Given the description of an element on the screen output the (x, y) to click on. 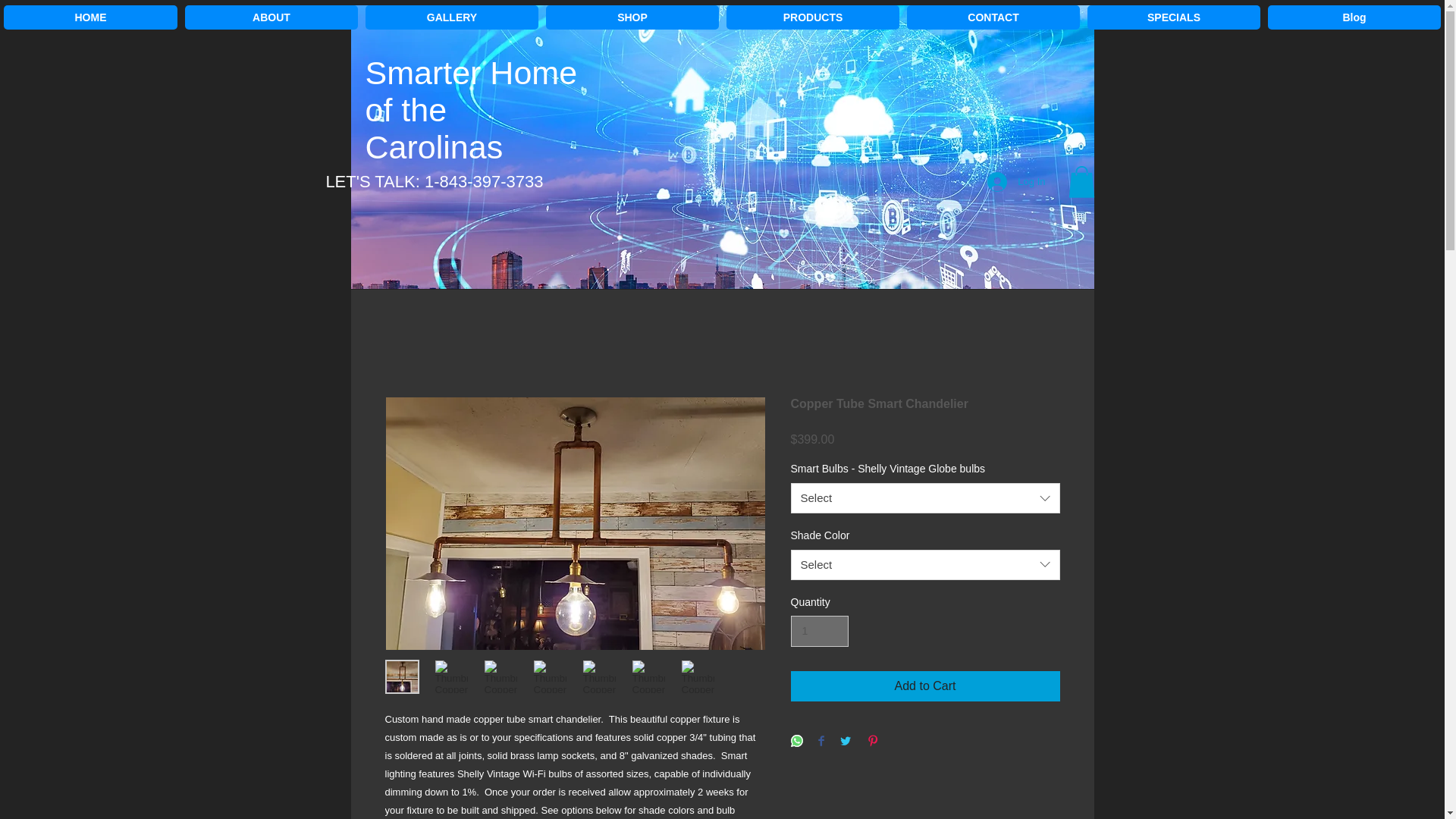
Add to Cart (924, 685)
Blog (1354, 16)
Select (924, 564)
ABOUT (271, 16)
PRODUCTS (812, 16)
CONTACT (993, 16)
SHOP (632, 16)
SPECIALS (1173, 16)
HOME (90, 16)
Select (924, 498)
